Given the description of an element on the screen output the (x, y) to click on. 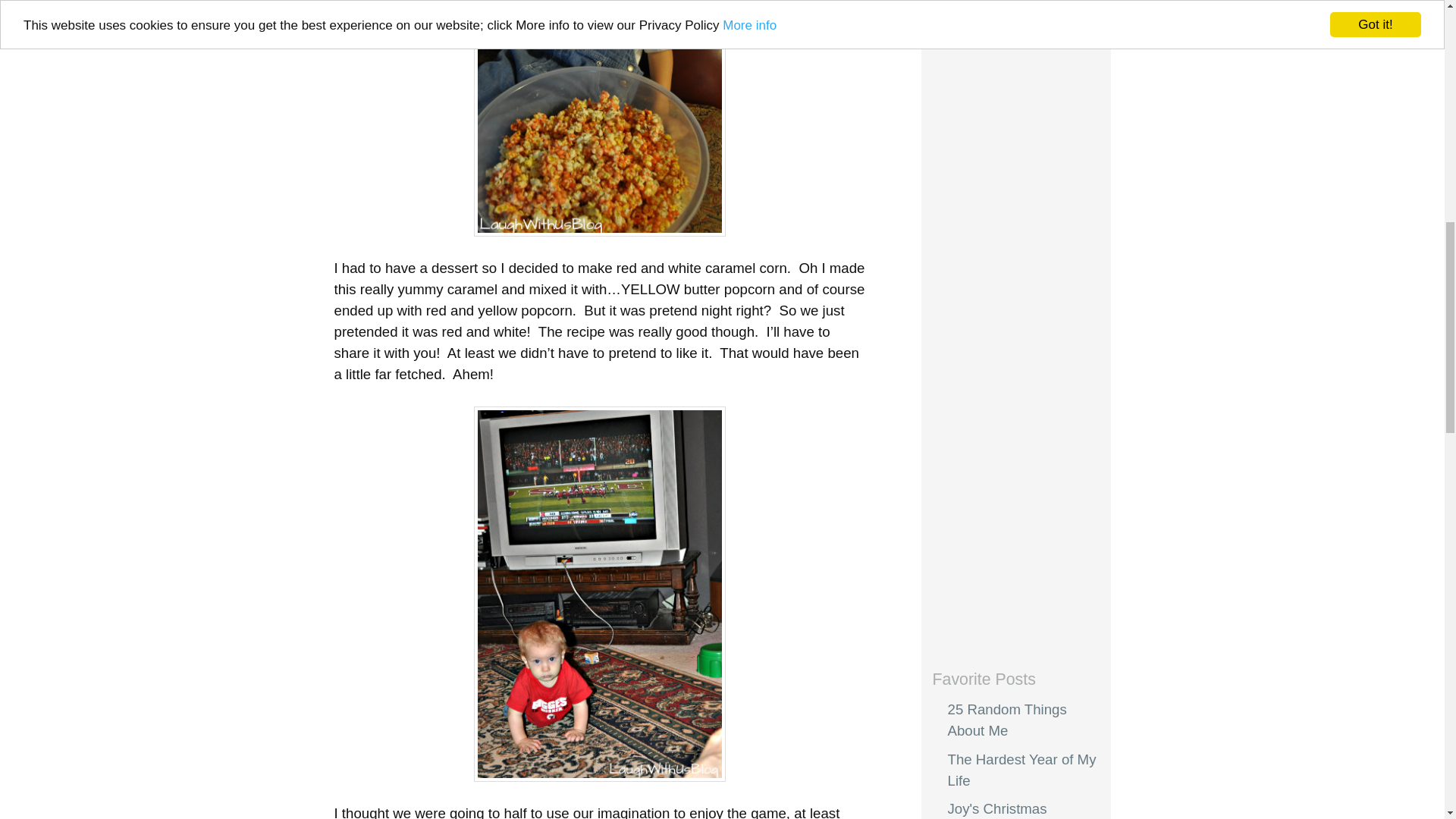
Game Day Popcorn (599, 118)
